Given the description of an element on the screen output the (x, y) to click on. 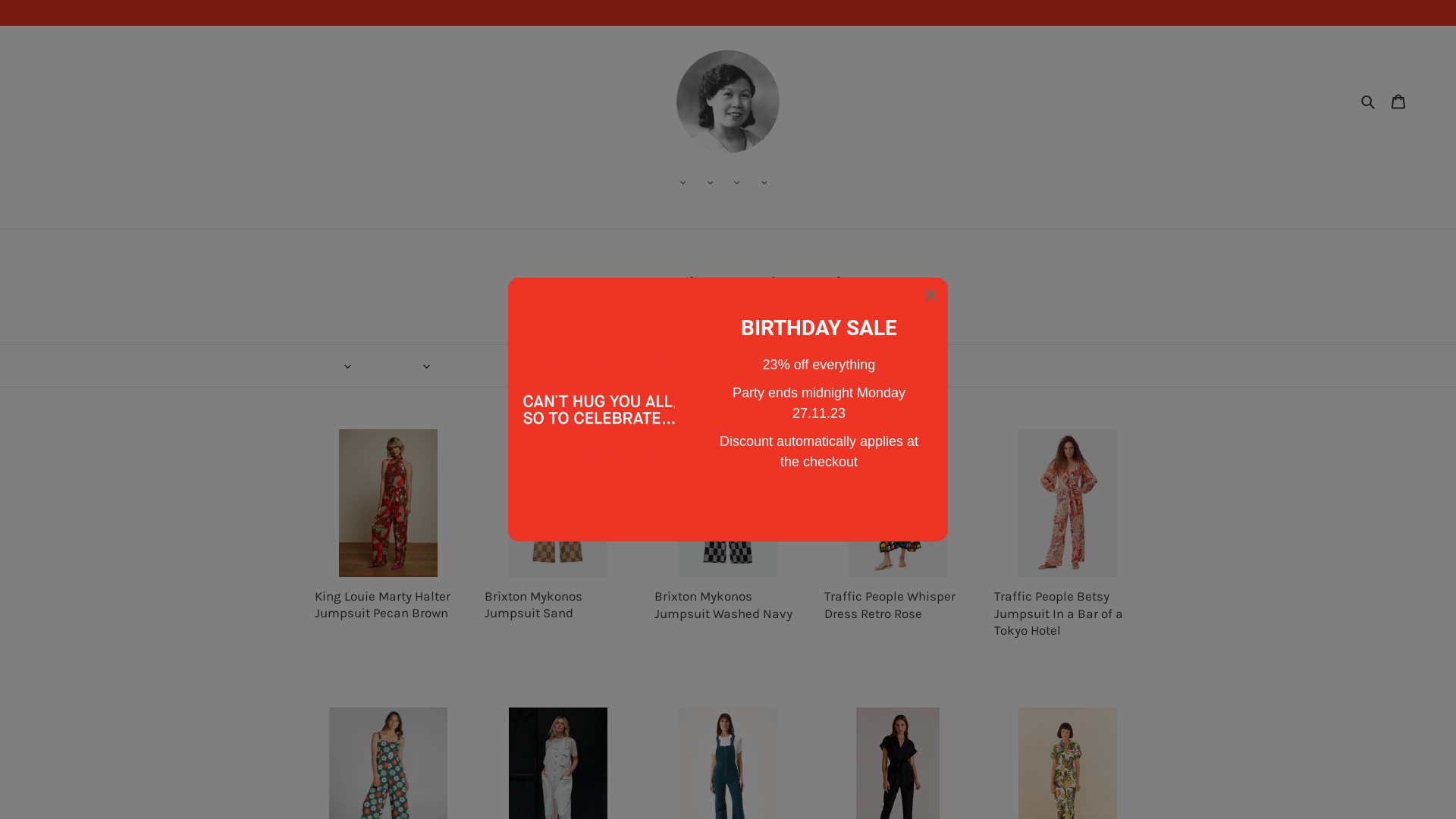
Brixton Mykonos Jumpsuit Washed Navy Element type: text (727, 546)
Traffic People Betsy Jumpsuit In a Bar of a Tokyo Hotel Element type: text (1067, 554)
Search Element type: text (1368, 100)
Brixton Mykonos Jumpsuit Sand Element type: text (557, 546)
King Louie Marty Halter Jumpsuit Pecan Brown Element type: text (387, 546)
Traffic People Whisper Dress Retro Rose Element type: text (897, 546)
MAN Element type: text (706, 182)
GIFT VOUCHERS Element type: text (781, 182)
WOMAN Element type: text (679, 182)
BRANDS Element type: text (761, 182)
SALE Element type: text (733, 182)
Cart Element type: text (1398, 100)
